Given the description of an element on the screen output the (x, y) to click on. 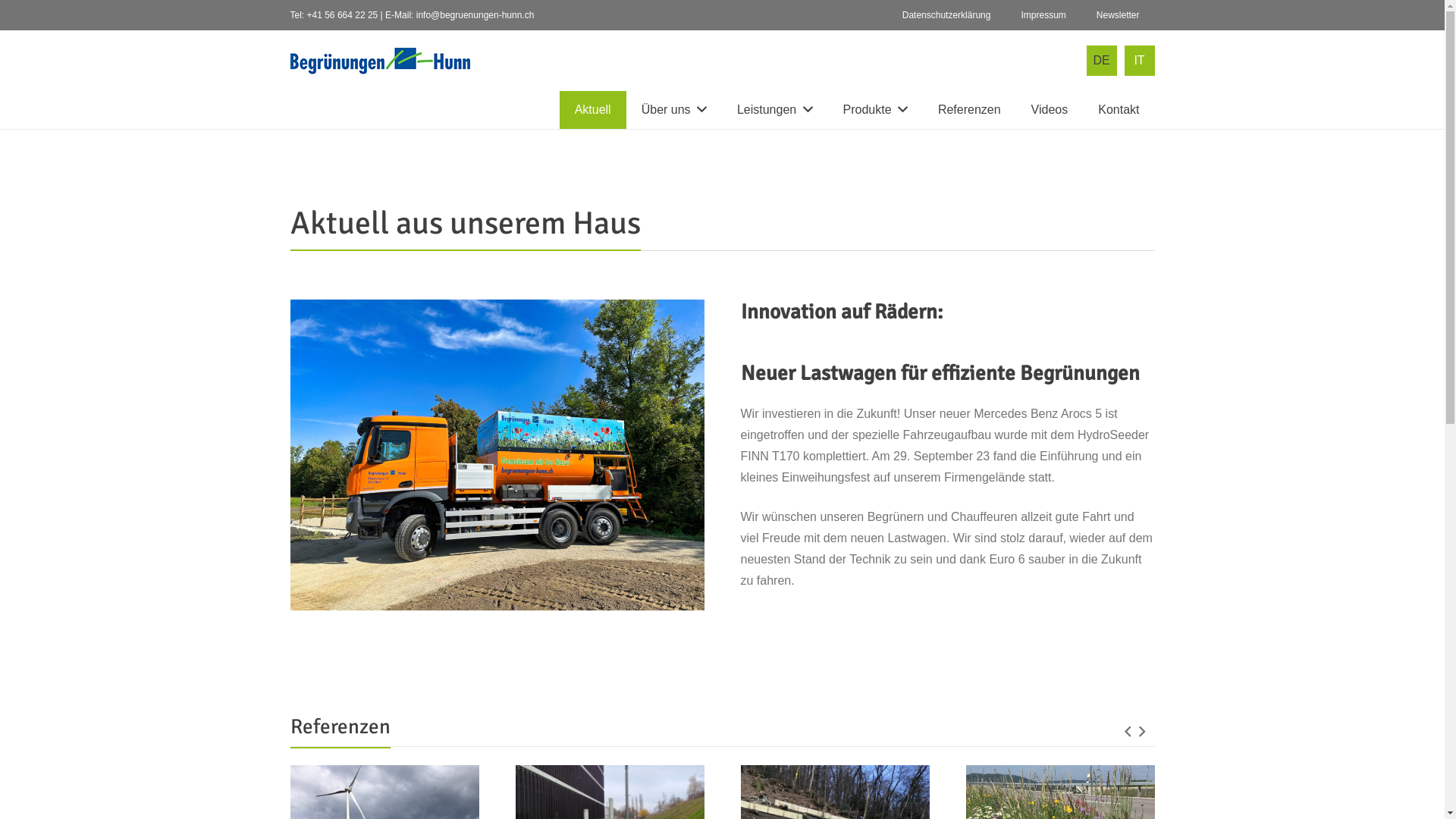
Newsletter Element type: text (1117, 15)
Kontakt Element type: text (1118, 109)
Referenzen Element type: text (969, 109)
Leistungen Element type: text (774, 109)
DE Element type: text (1100, 60)
Videos Element type: text (1049, 109)
Impressum Element type: text (1042, 15)
Produkte Element type: text (875, 109)
IT Element type: text (1138, 60)
Aktuell Element type: text (592, 109)
